Given the description of an element on the screen output the (x, y) to click on. 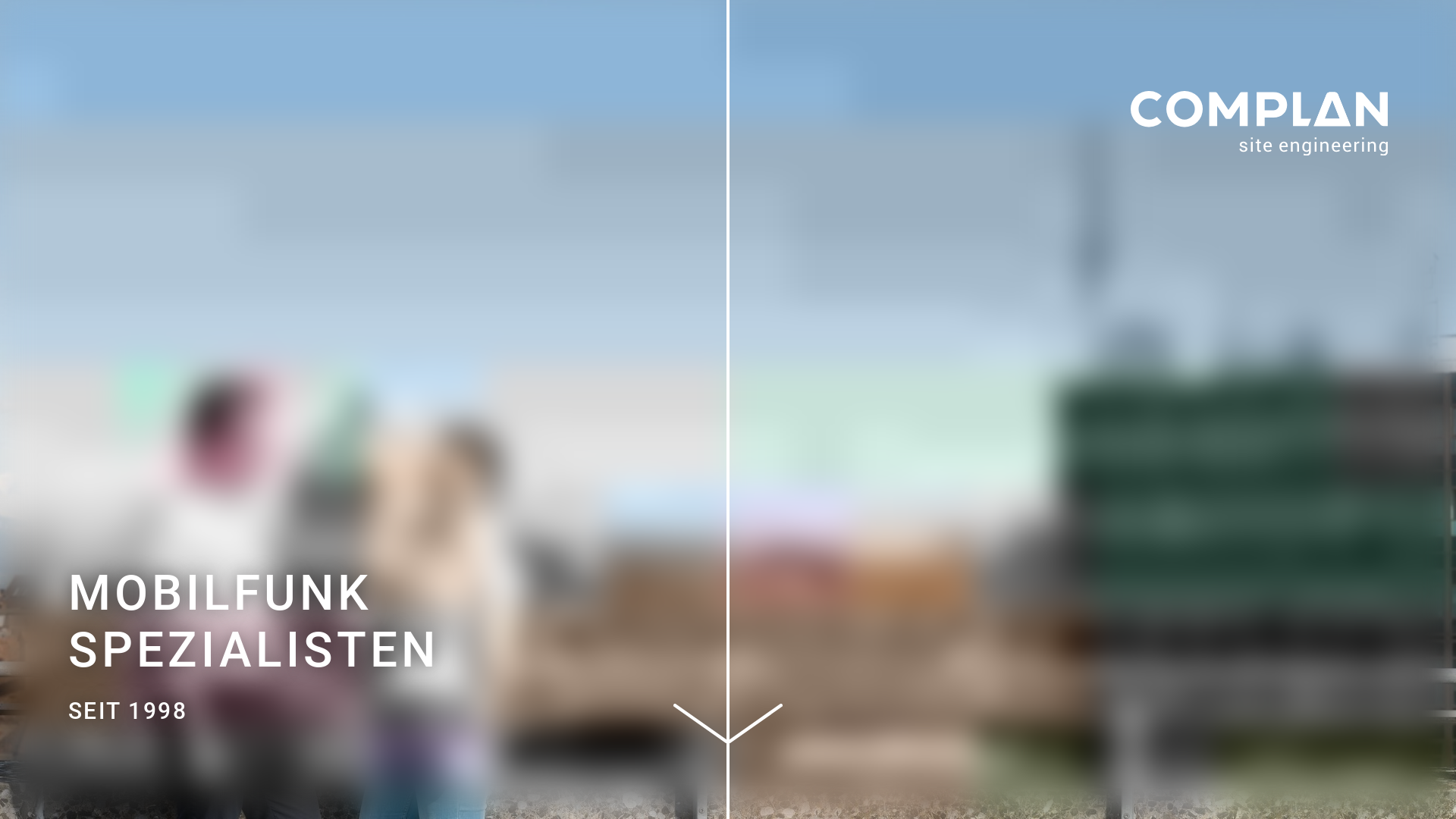
Complan Element type: hover (1258, 127)
